Given the description of an element on the screen output the (x, y) to click on. 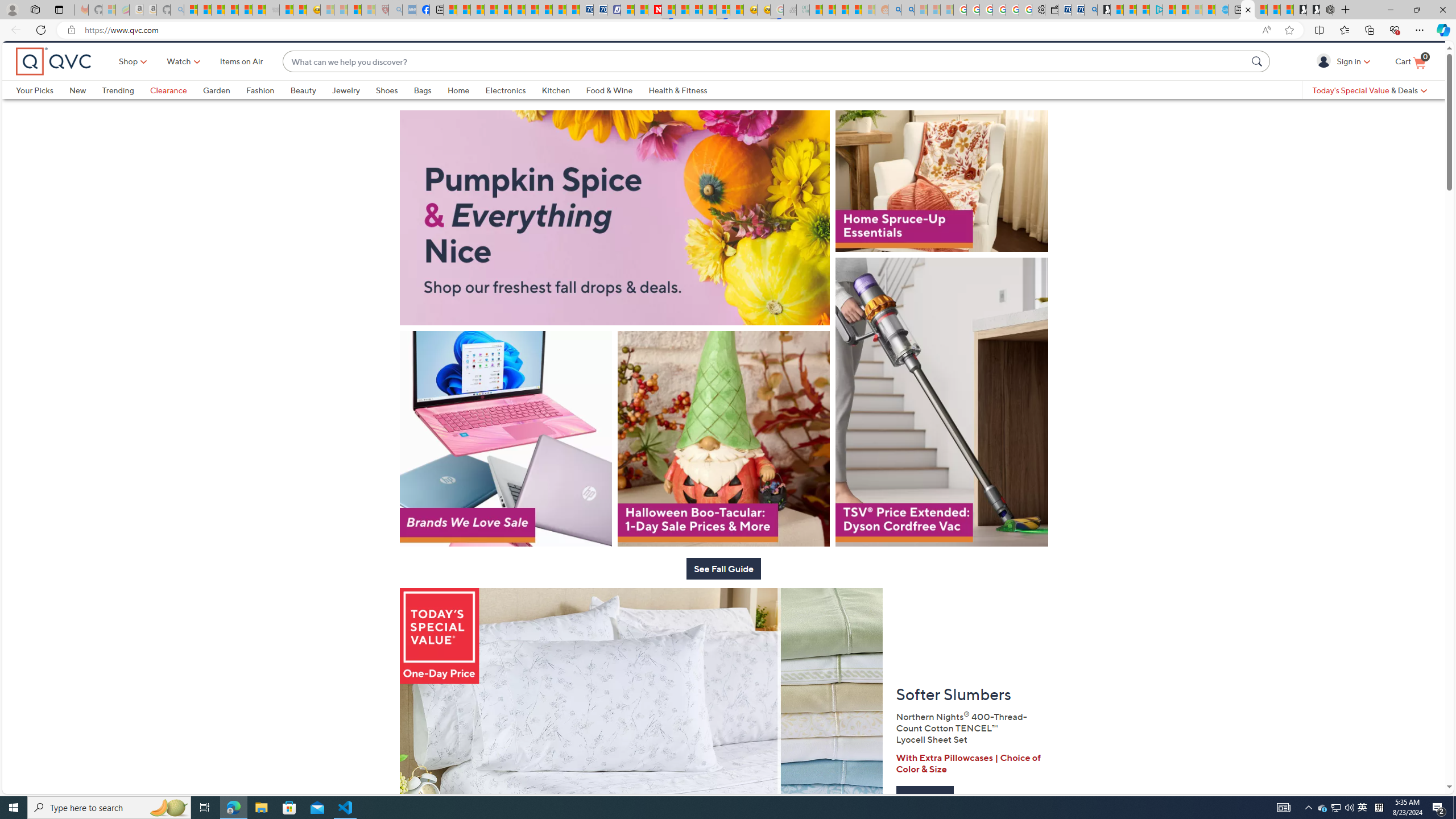
Garden (216, 109)
Your Picks (42, 109)
See Fall Guide (723, 603)
Bags (429, 109)
Shoes (394, 109)
Clearance (175, 109)
